Given the description of an element on the screen output the (x, y) to click on. 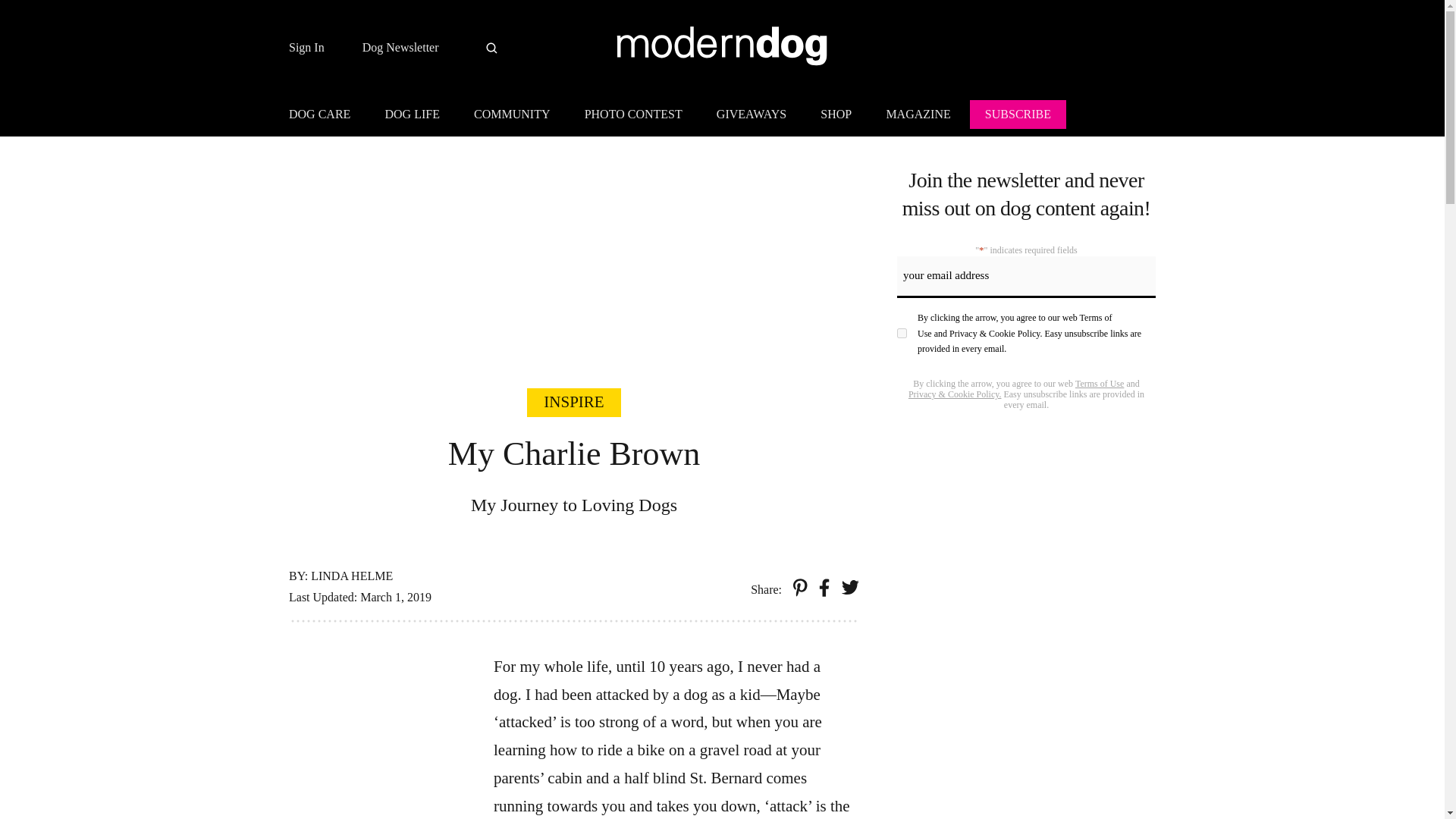
DOG CARE (326, 116)
Dog Newsletter (400, 47)
DOG LIFE (411, 116)
Sign In (306, 47)
